Given the description of an element on the screen output the (x, y) to click on. 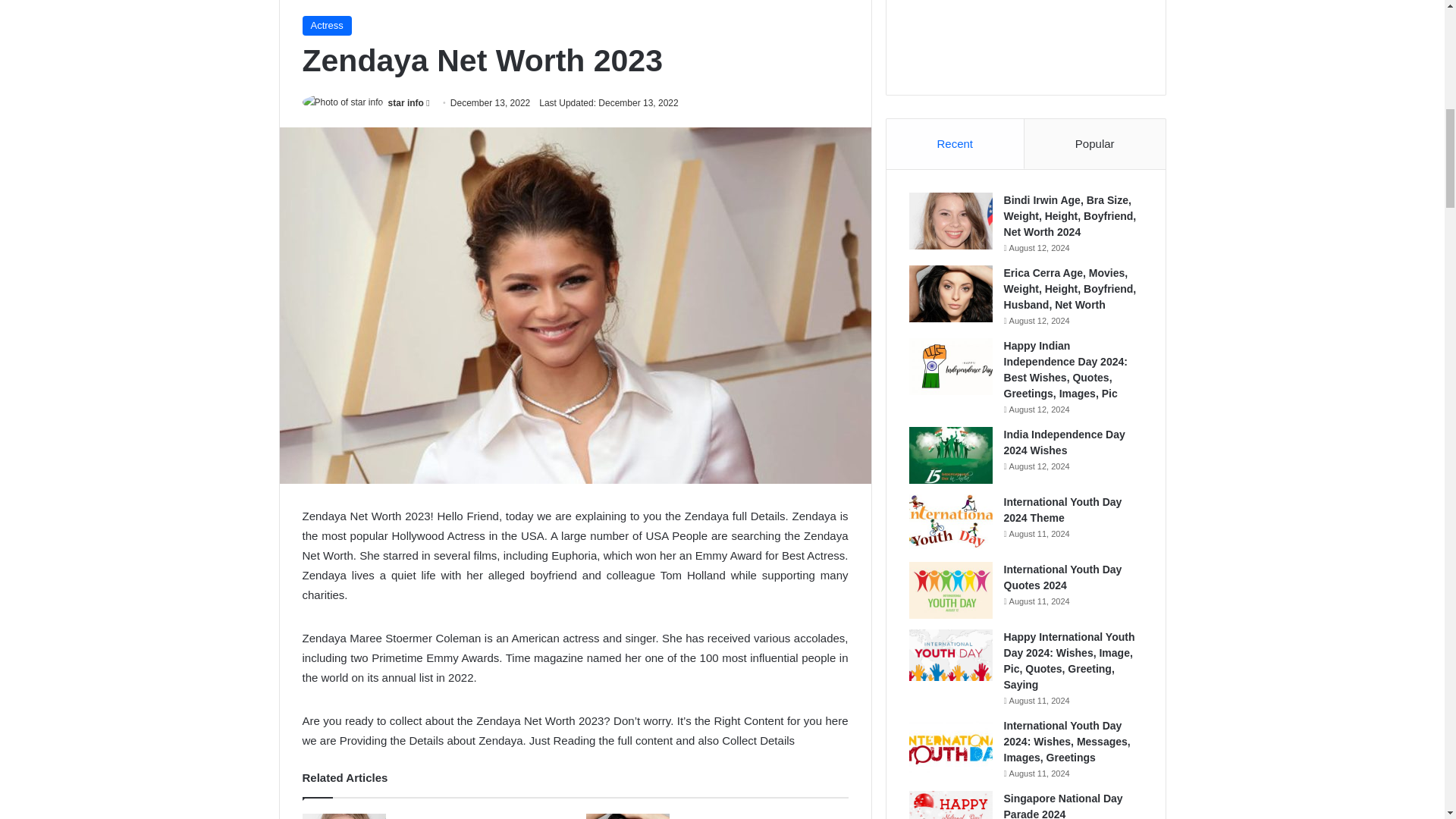
star info (405, 102)
star info (405, 102)
Actress (325, 25)
